Given the description of an element on the screen output the (x, y) to click on. 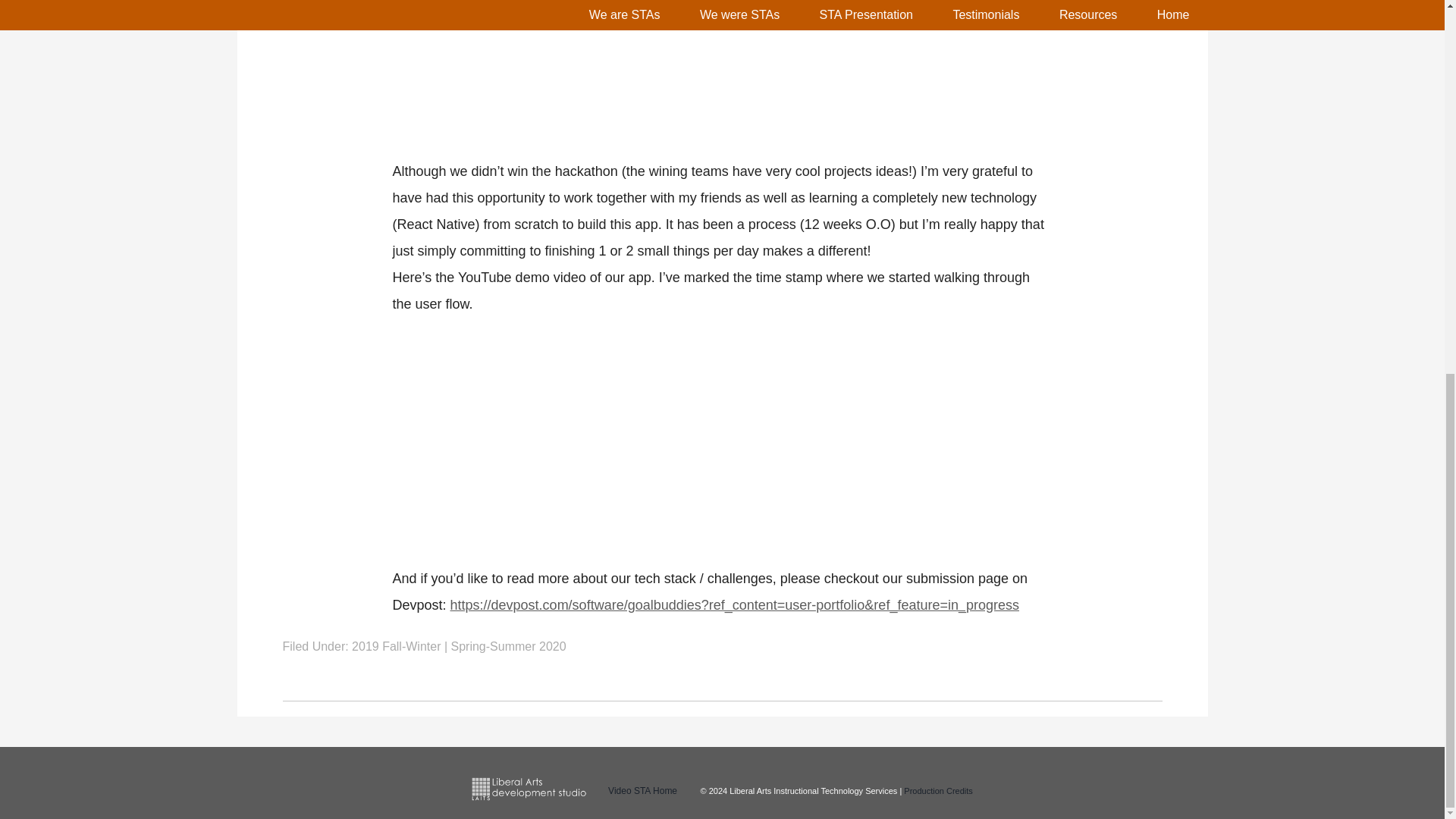
Video STA Home (642, 790)
Production Credits (938, 790)
